Given the description of an element on the screen output the (x, y) to click on. 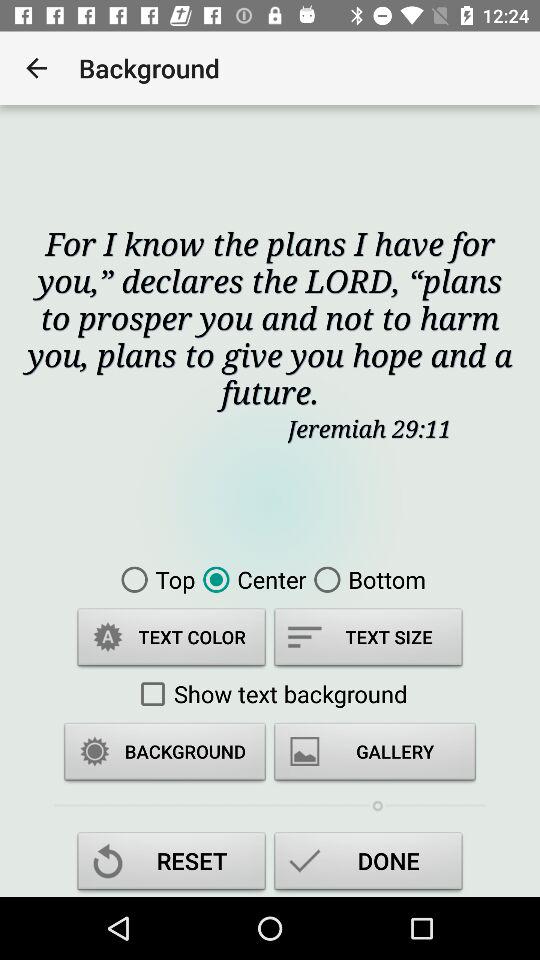
open item below the center (368, 640)
